Given the description of an element on the screen output the (x, y) to click on. 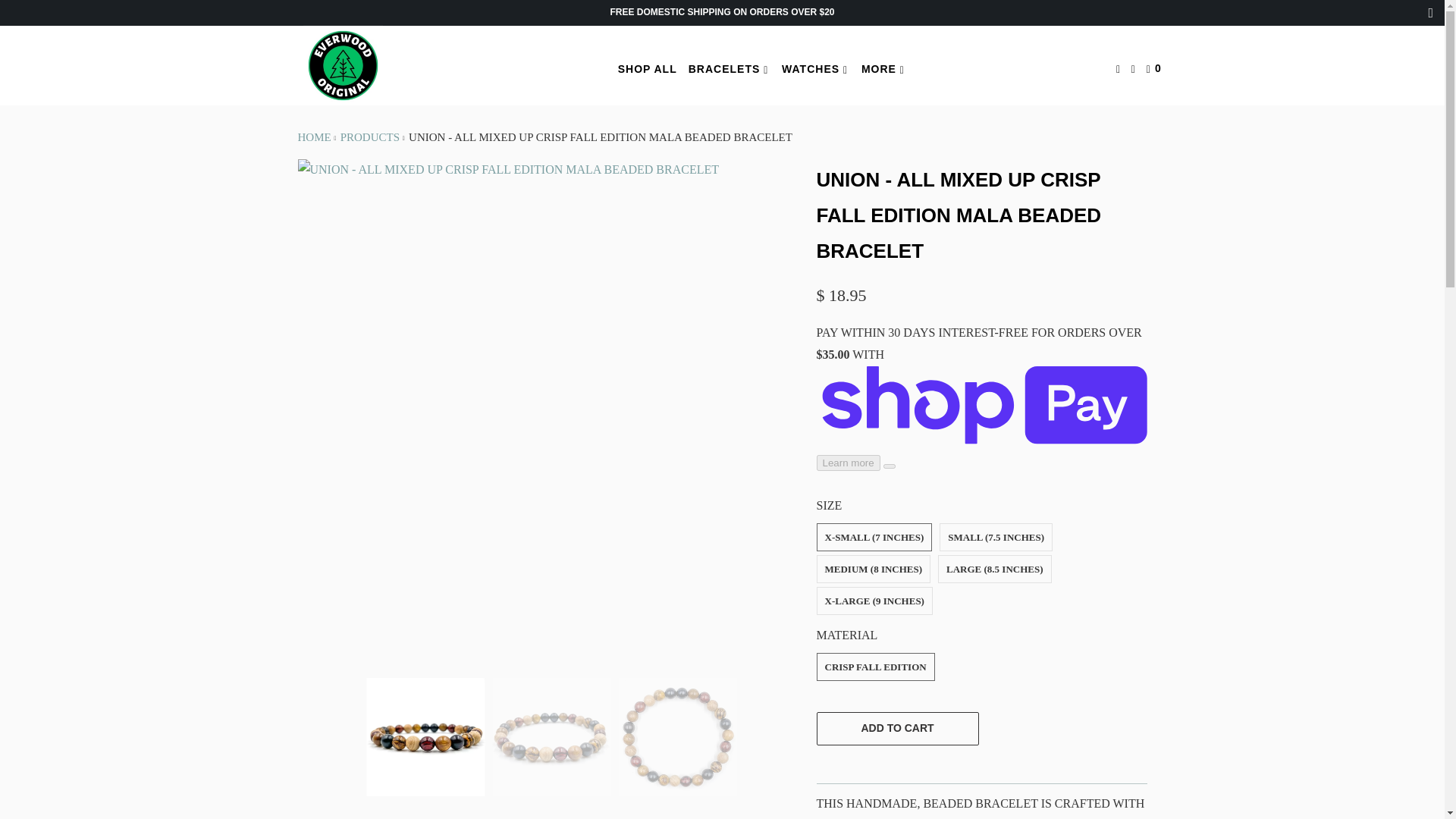
Products (369, 137)
Everwood Original  (313, 137)
Everwood Original  (342, 65)
